Given the description of an element on the screen output the (x, y) to click on. 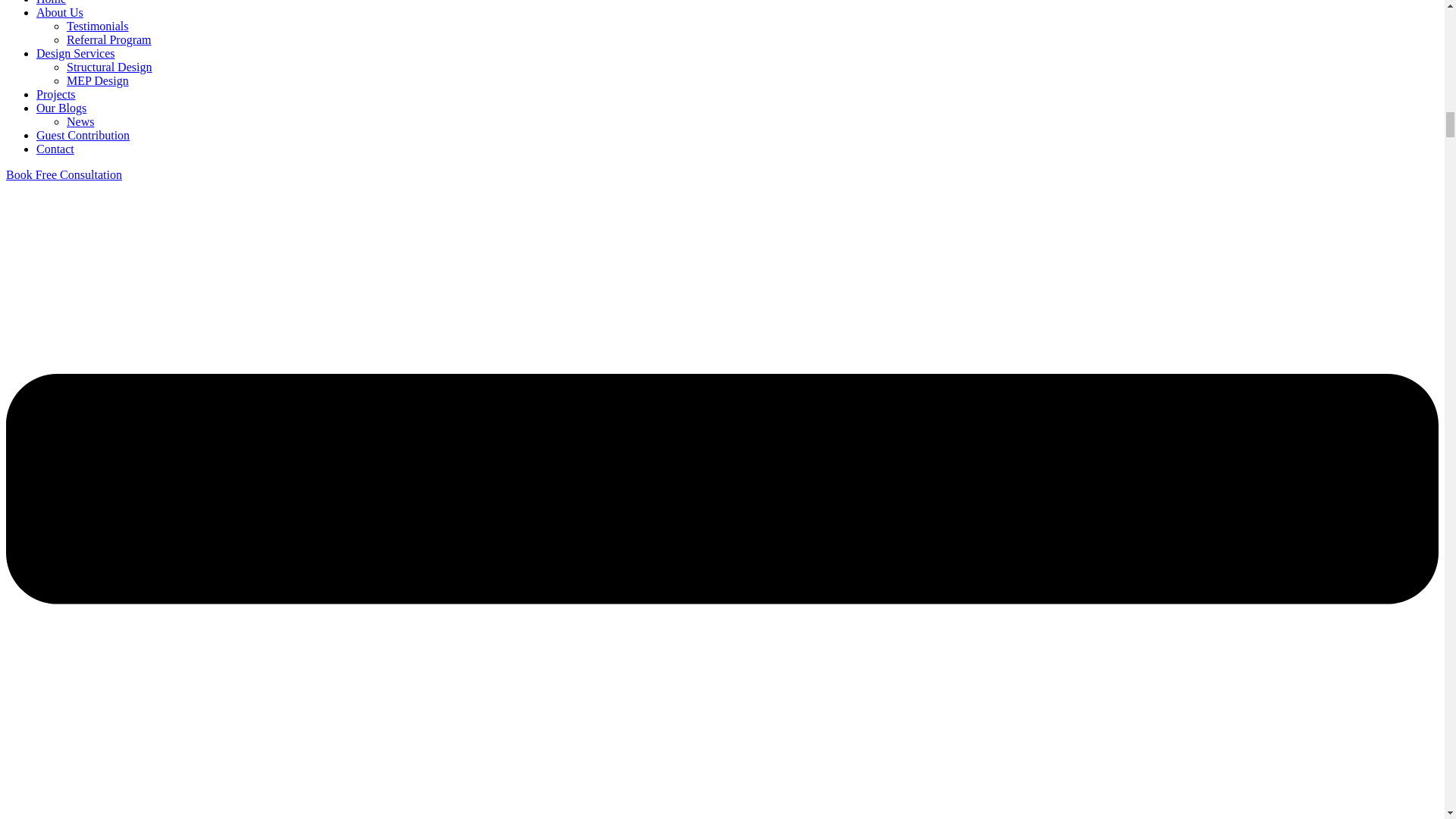
Projects (55, 93)
MEP Design (97, 80)
Book Free Consultation (63, 174)
News (80, 121)
Contact (55, 148)
Home (50, 2)
Design Services (75, 52)
Referral Program (108, 39)
Testimonials (97, 25)
About Us (59, 11)
Guest Contribution (82, 134)
Our Blogs (60, 107)
Structural Design (108, 66)
